Given the description of an element on the screen output the (x, y) to click on. 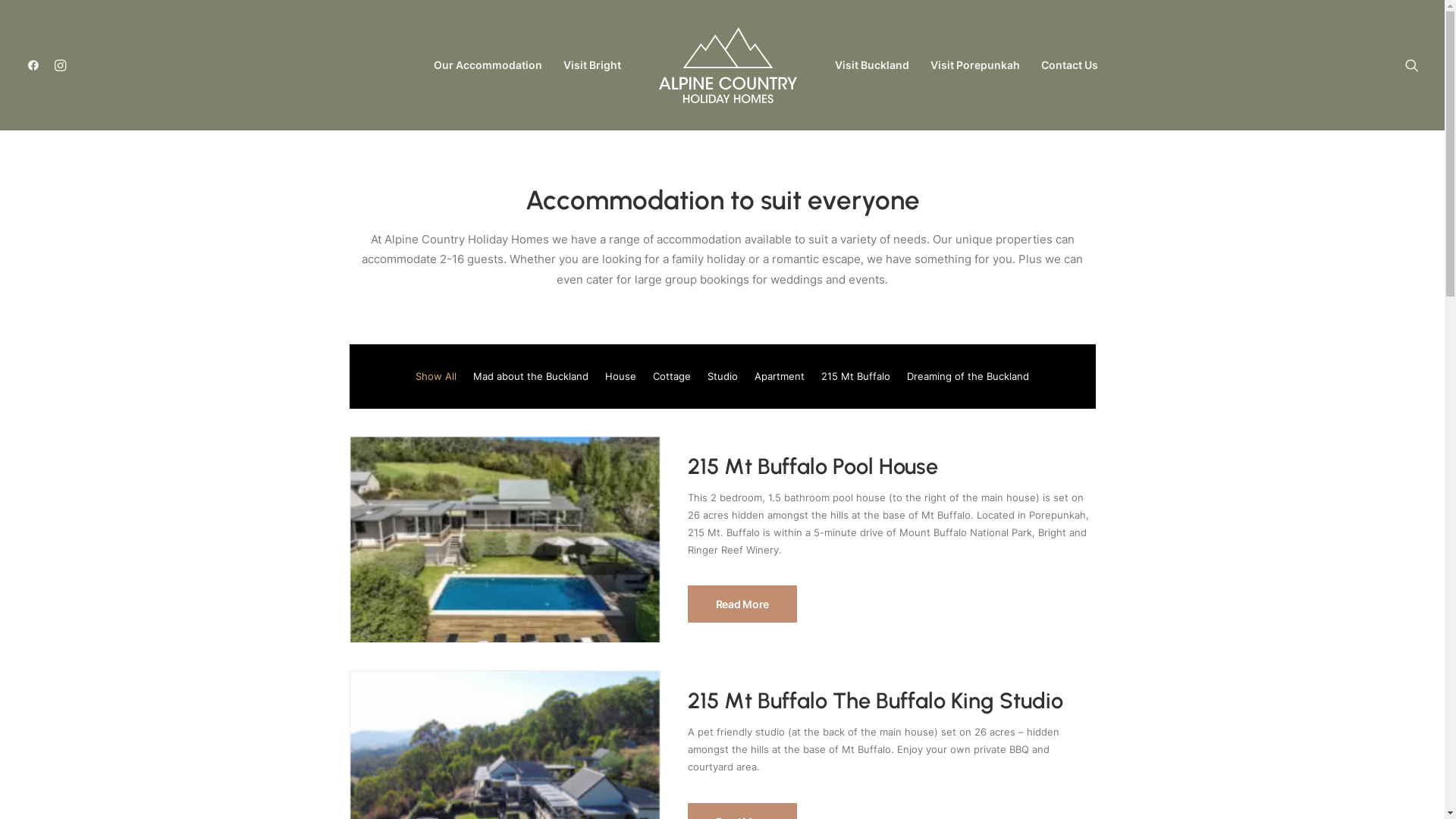
Read More Element type: text (741, 603)
Contact Us Element type: text (1069, 65)
215 Mt Buffalo Element type: text (855, 376)
House Element type: text (620, 376)
215 Mt Buffalo Pool House Element type: text (812, 465)
Apartment Element type: text (779, 376)
Visit Buckland Element type: text (871, 65)
215 Mt Buffalo The Buffalo King Studio Element type: text (874, 700)
Show All Element type: text (435, 376)
Our Accommodation Element type: text (487, 65)
Visit Bright Element type: text (591, 65)
Cottage Element type: text (671, 376)
Visit Porepunkah Element type: text (974, 65)
Mad about the Buckland Element type: text (530, 376)
Dreaming of the Buckland Element type: text (967, 376)
Studio Element type: text (722, 376)
